Given the description of an element on the screen output the (x, y) to click on. 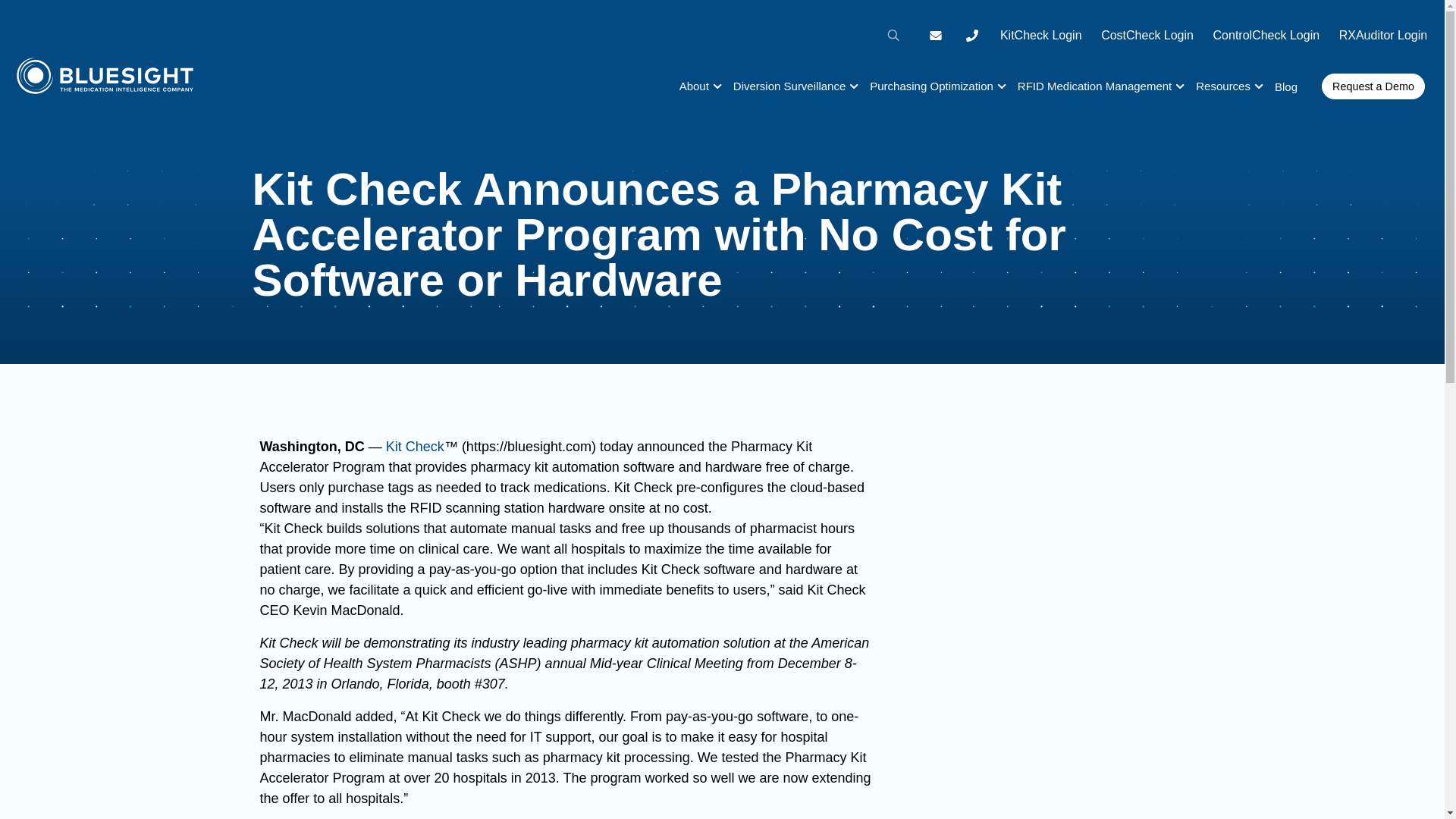
KitCheck Login (1040, 34)
Skip Navigation (45, 5)
ControlCheck Login (1266, 34)
Call Us (971, 34)
Diversion Surveillance (789, 86)
CostCheck Login (1146, 34)
Bluesight (104, 84)
Purchasing Optimization (930, 86)
RXAuditor Login (1383, 34)
Contact Us (935, 34)
